Given the description of an element on the screen output the (x, y) to click on. 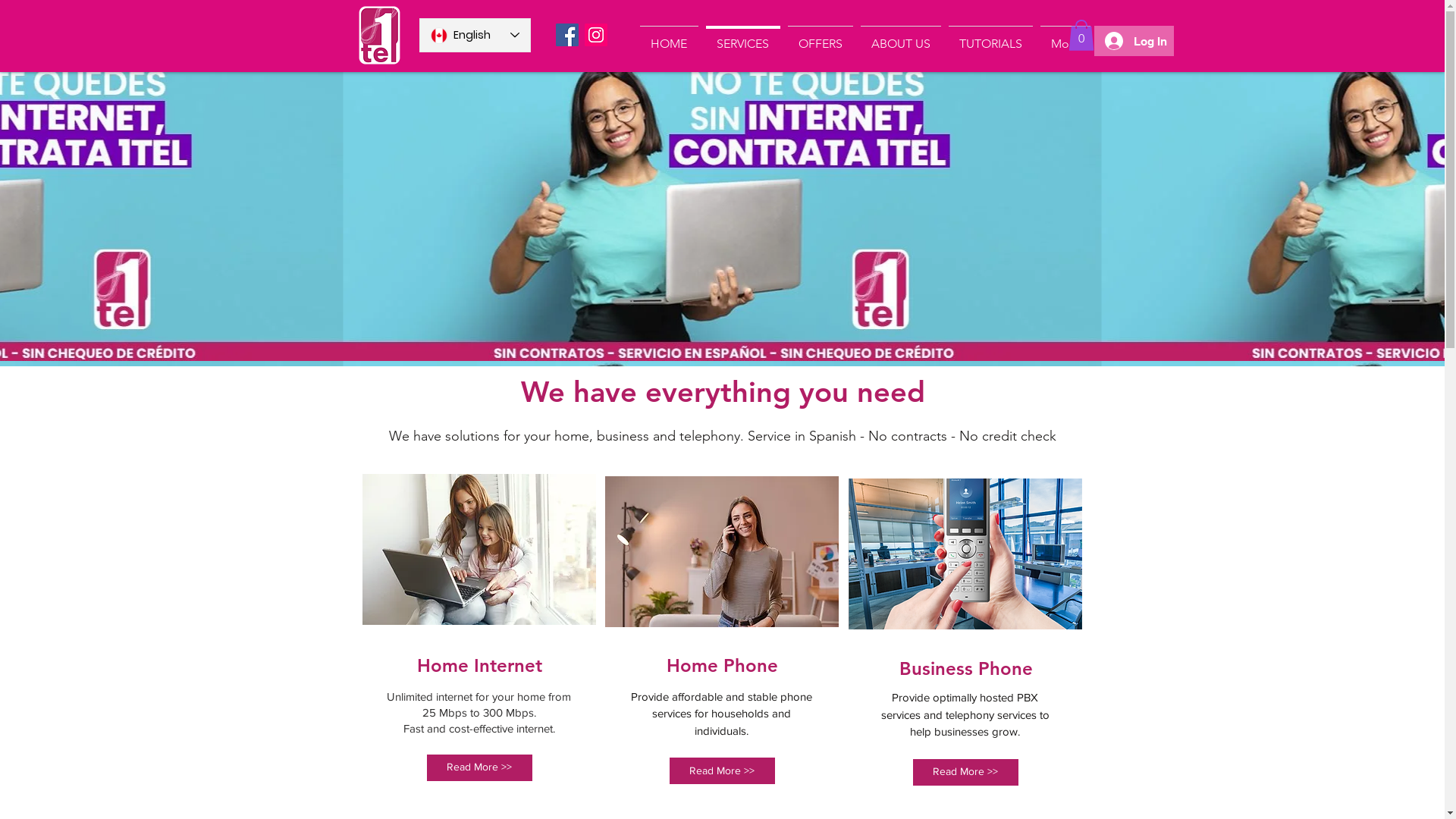
HOME Element type: text (668, 36)
Read More >> Element type: text (965, 771)
SERVICES Element type: text (743, 36)
Read More >> Element type: text (721, 770)
OFFERS Element type: text (820, 36)
0 Element type: text (1080, 34)
Read More >> Element type: text (478, 767)
TUTORIALS Element type: text (990, 36)
ABOUT US Element type: text (900, 36)
Log In Element type: text (1133, 40)
